Given the description of an element on the screen output the (x, y) to click on. 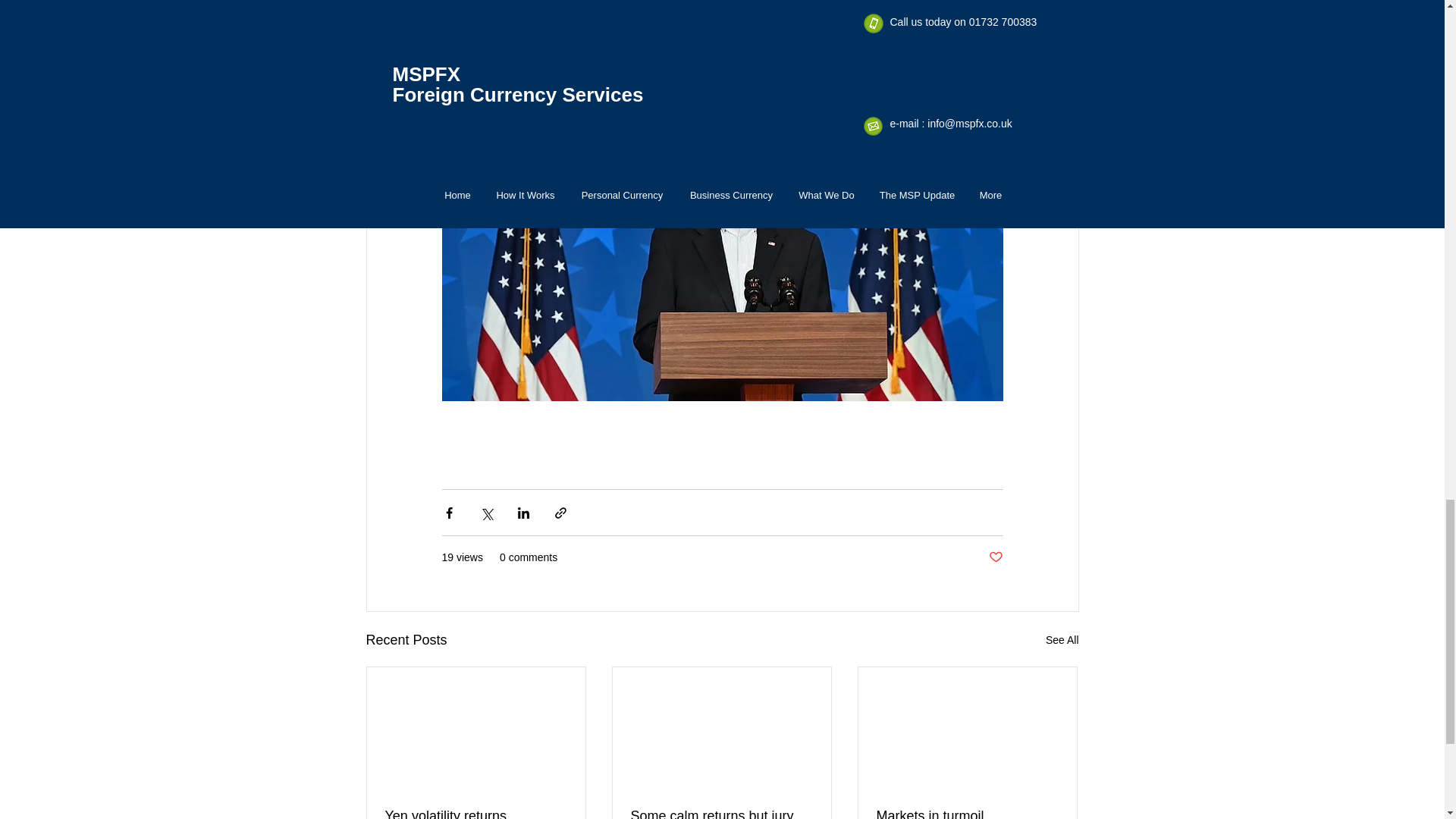
Some calm returns but jury still out (721, 813)
Post not marked as liked (995, 557)
Markets in turmoil (967, 813)
Yen volatility returns (476, 813)
See All (1061, 640)
